Given the description of an element on the screen output the (x, y) to click on. 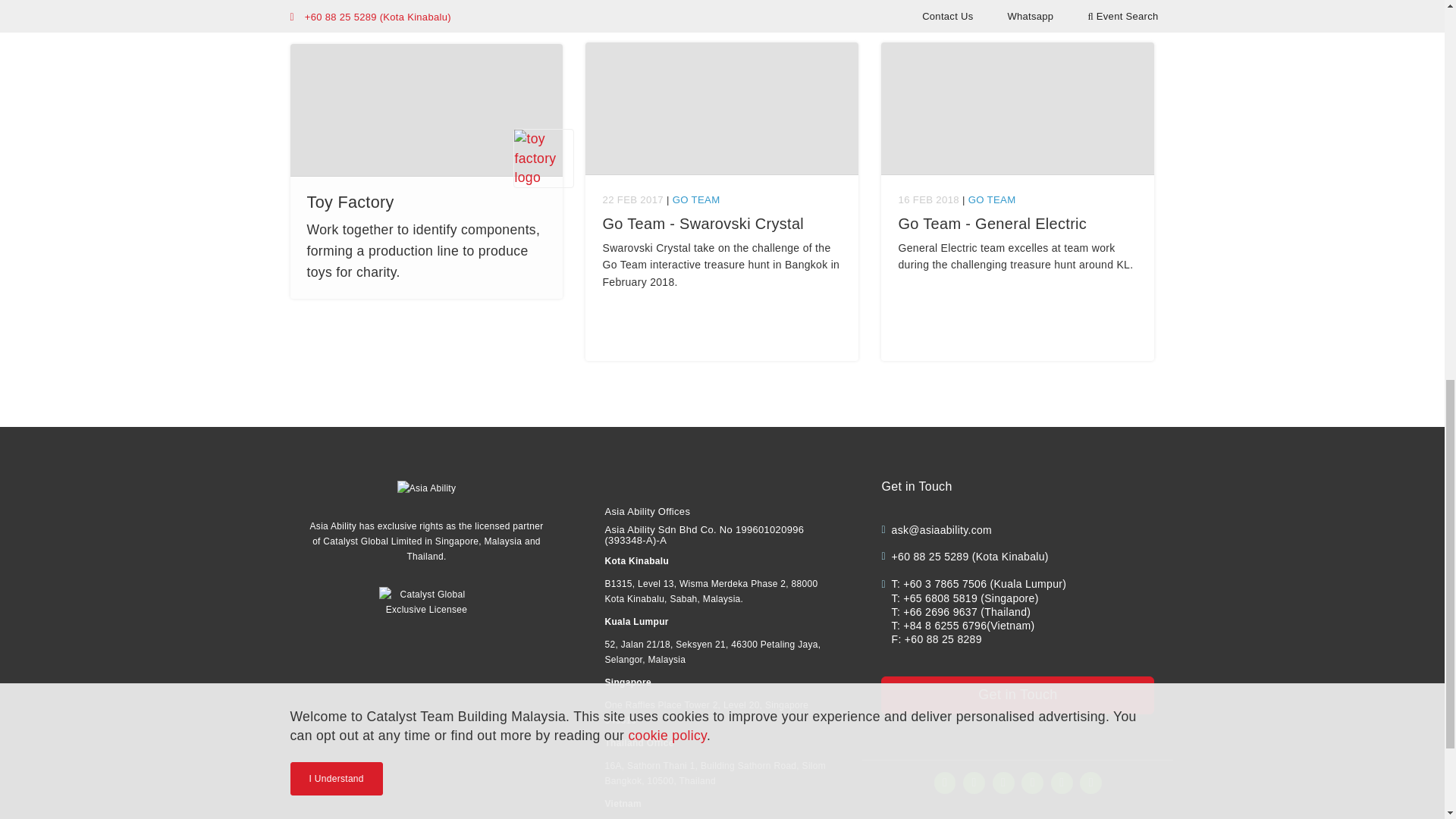
Watch us on Youtube (1091, 782)
Follow us on Instagram (973, 782)
Find us on Linkedin (1003, 782)
Follow us on Twitter (1032, 782)
Watch us on Vimeo (1062, 782)
Get in Touch (1017, 695)
Find us on Facebook (945, 782)
